Given the description of an element on the screen output the (x, y) to click on. 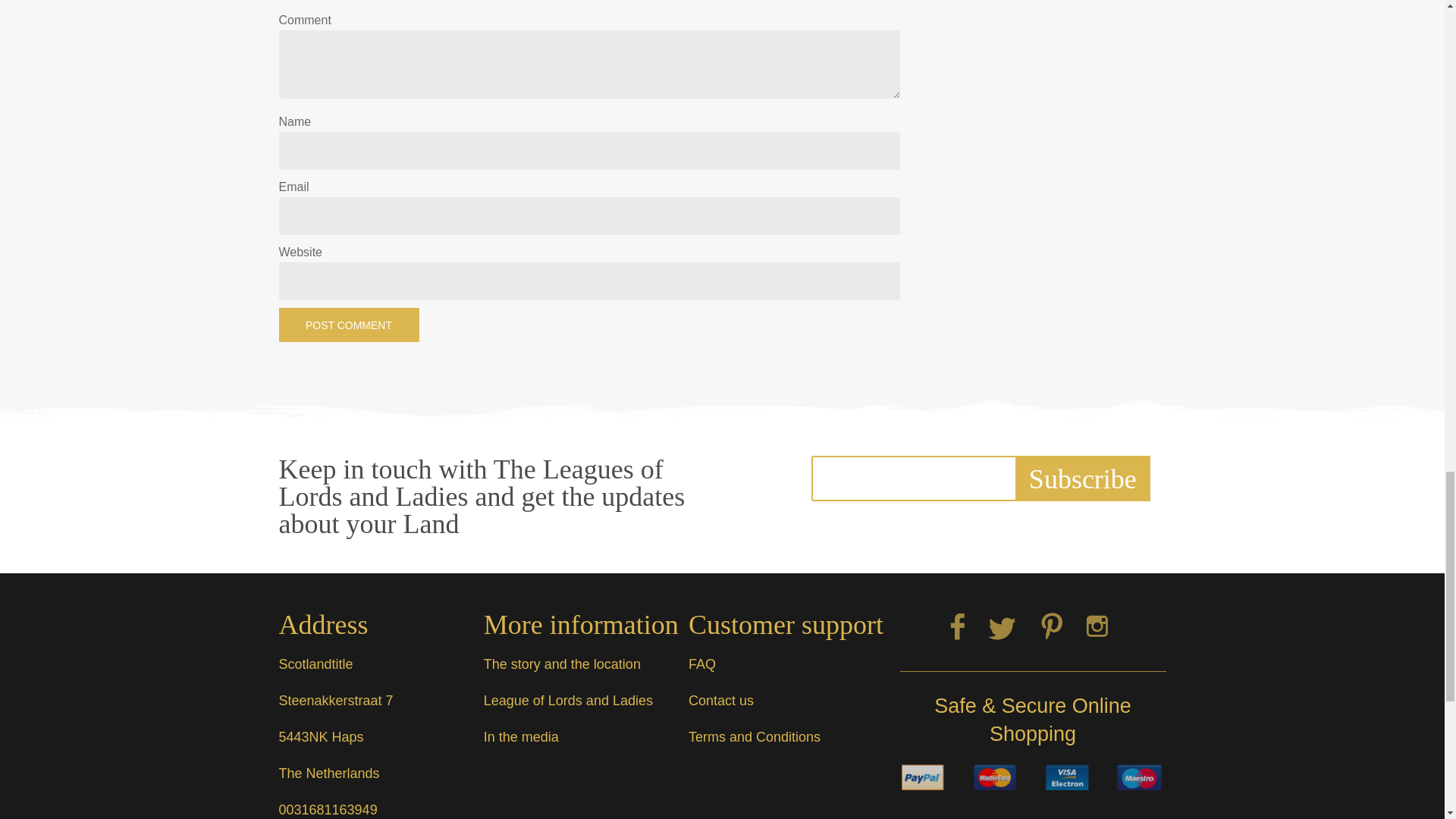
FAQ (702, 663)
Terms and Conditions (754, 736)
Post Comment (349, 324)
In the media (521, 736)
Contact us (721, 700)
Subscribe (1082, 478)
League of Lords and Ladies (567, 700)
Post Comment (349, 324)
The story and the location (561, 663)
Subscribe (1082, 478)
